Given the description of an element on the screen output the (x, y) to click on. 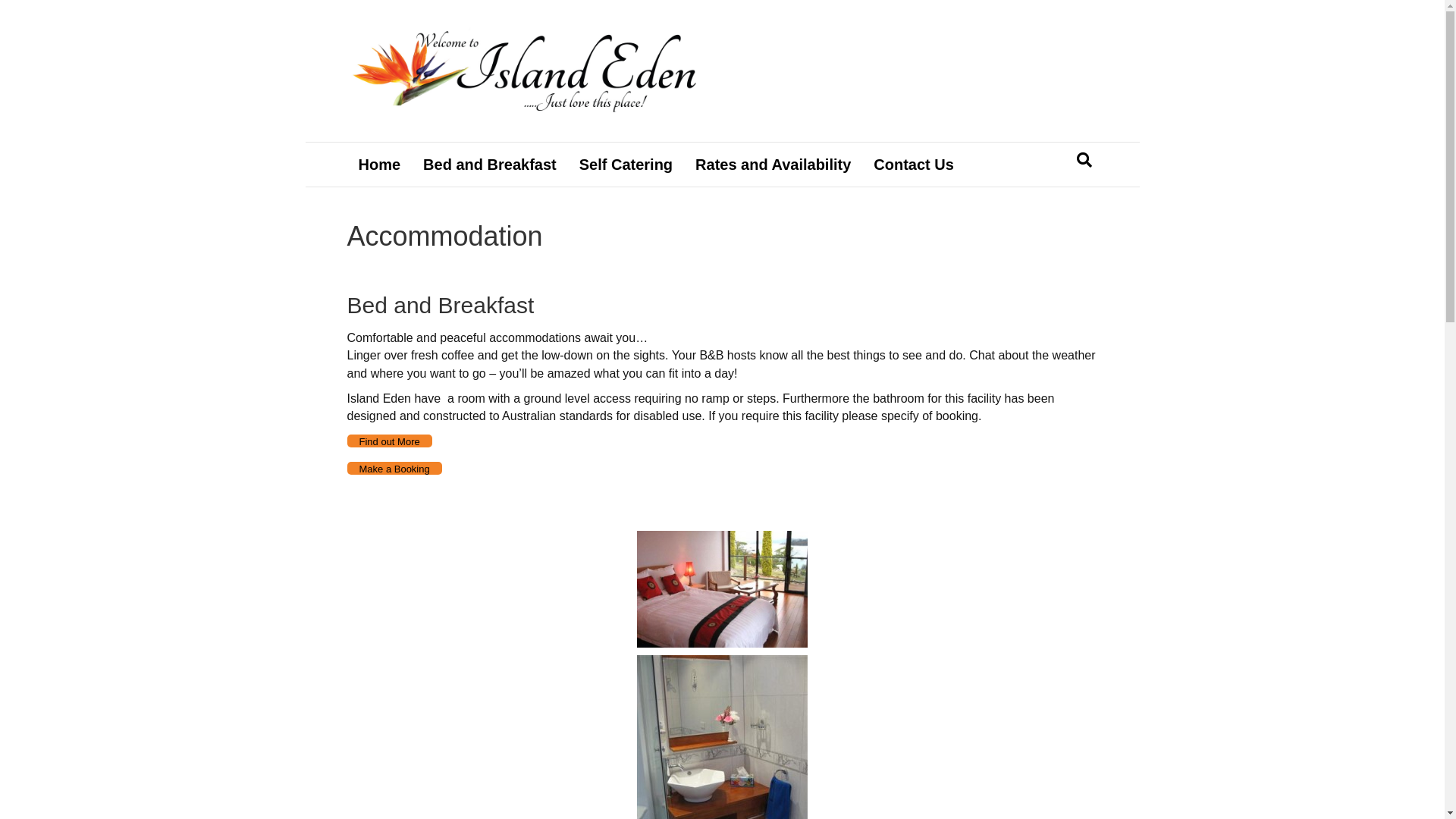
Rates and Availability Element type: text (773, 164)
Make a Booking Element type: text (394, 467)
Home Element type: text (379, 164)
Self Catering Element type: text (625, 164)
Bed and Breakfast Element type: text (489, 164)
Find out More Element type: text (389, 440)
Contact Us Element type: text (913, 164)
